Given the description of an element on the screen output the (x, y) to click on. 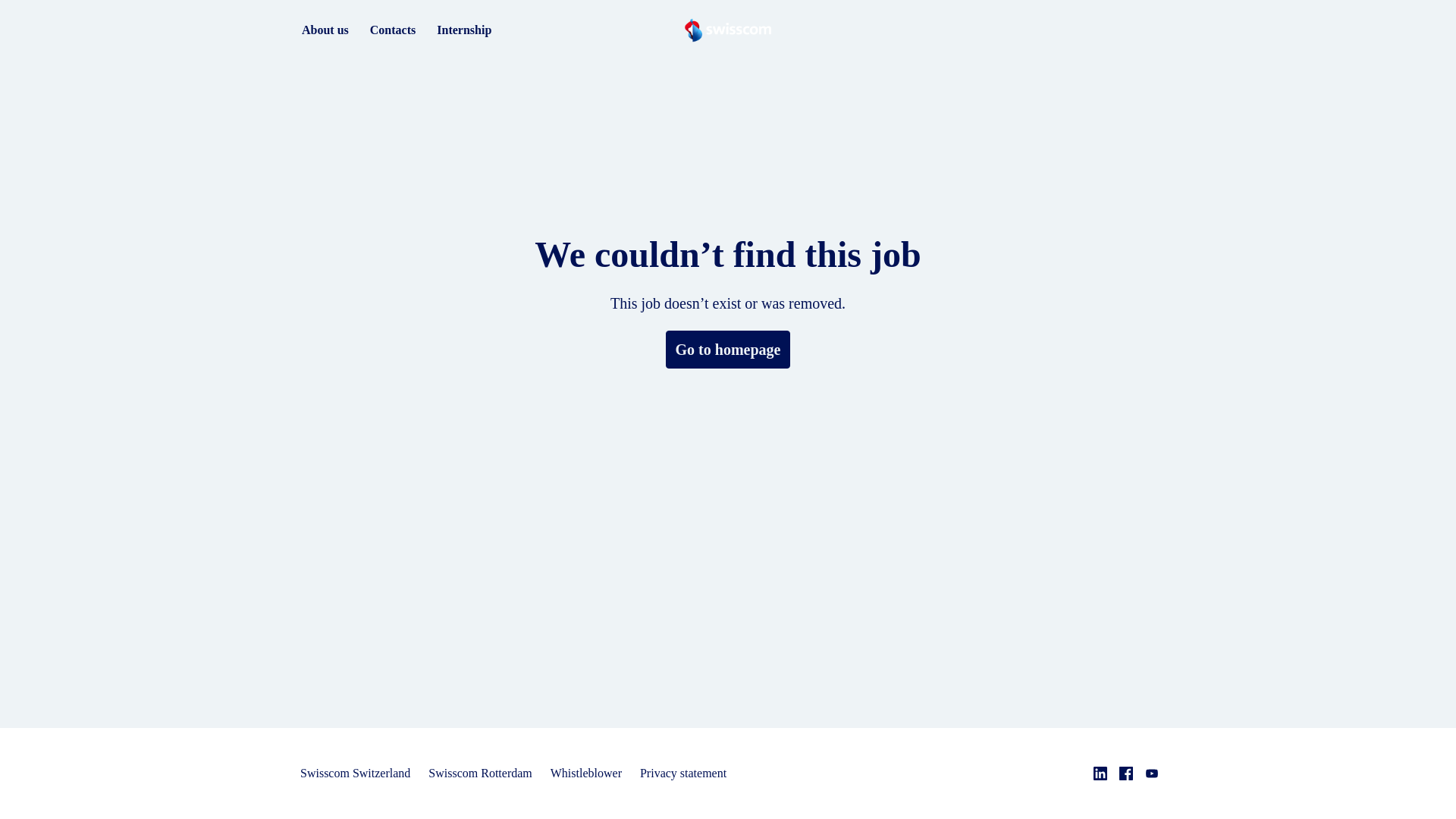
youtube (1151, 773)
linkedin (1100, 773)
facebook (1125, 773)
Swisscom Switzerland (355, 773)
Contacts (393, 30)
Go to homepage (727, 349)
Swisscom Rotterdam (479, 773)
Homepage (726, 30)
Internship (464, 30)
Whistleblower (585, 773)
